Given the description of an element on the screen output the (x, y) to click on. 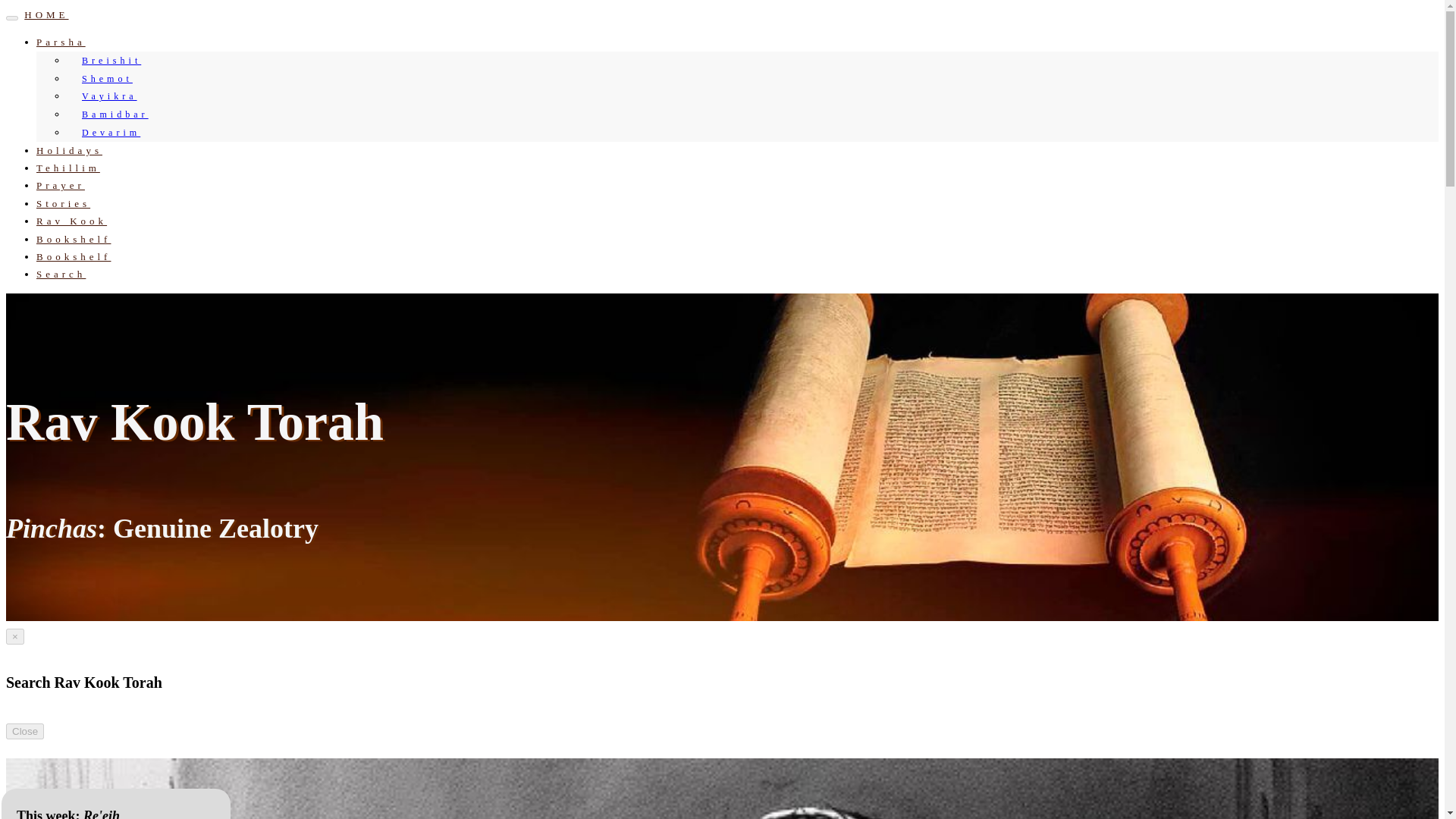
Close (24, 731)
HOME (46, 14)
Parsha (60, 41)
Bookshelf (73, 238)
Bookshelf (73, 256)
Vayikra (105, 96)
Stories (63, 203)
Holidays (68, 150)
Rav Kook (71, 220)
Bamidbar (110, 114)
